Given the description of an element on the screen output the (x, y) to click on. 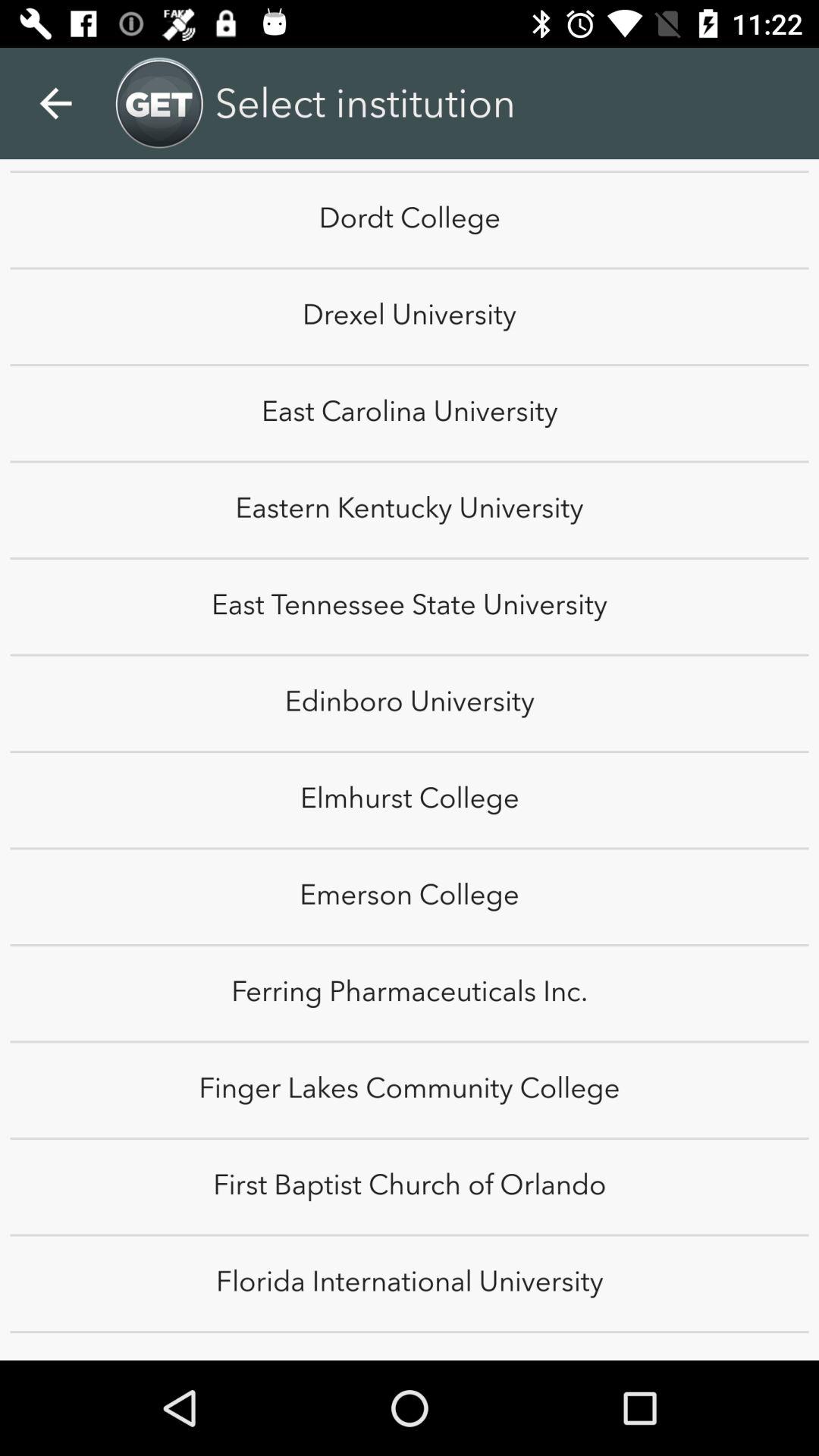
turn on the item at the top right corner (779, 87)
